Given the description of an element on the screen output the (x, y) to click on. 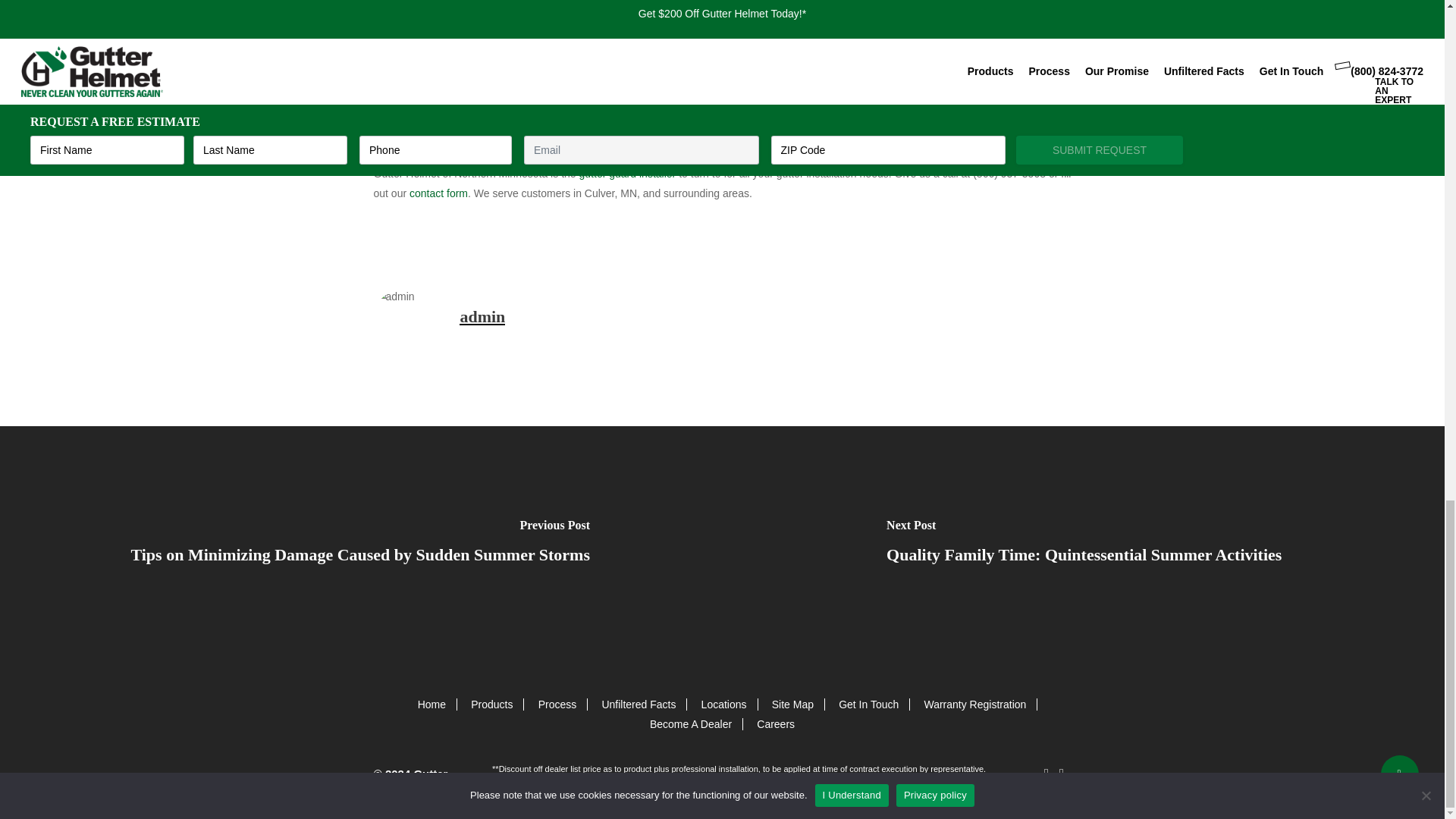
admin (482, 316)
Careers (775, 724)
Products (491, 704)
Become A Dealer (690, 724)
Locations (723, 704)
Home (431, 704)
Get In Touch (868, 704)
Unfiltered Facts (638, 704)
Site Map (792, 704)
Warranty Registration (974, 704)
gutter guard installer (628, 173)
Process (557, 704)
contact form (438, 193)
